Given the description of an element on the screen output the (x, y) to click on. 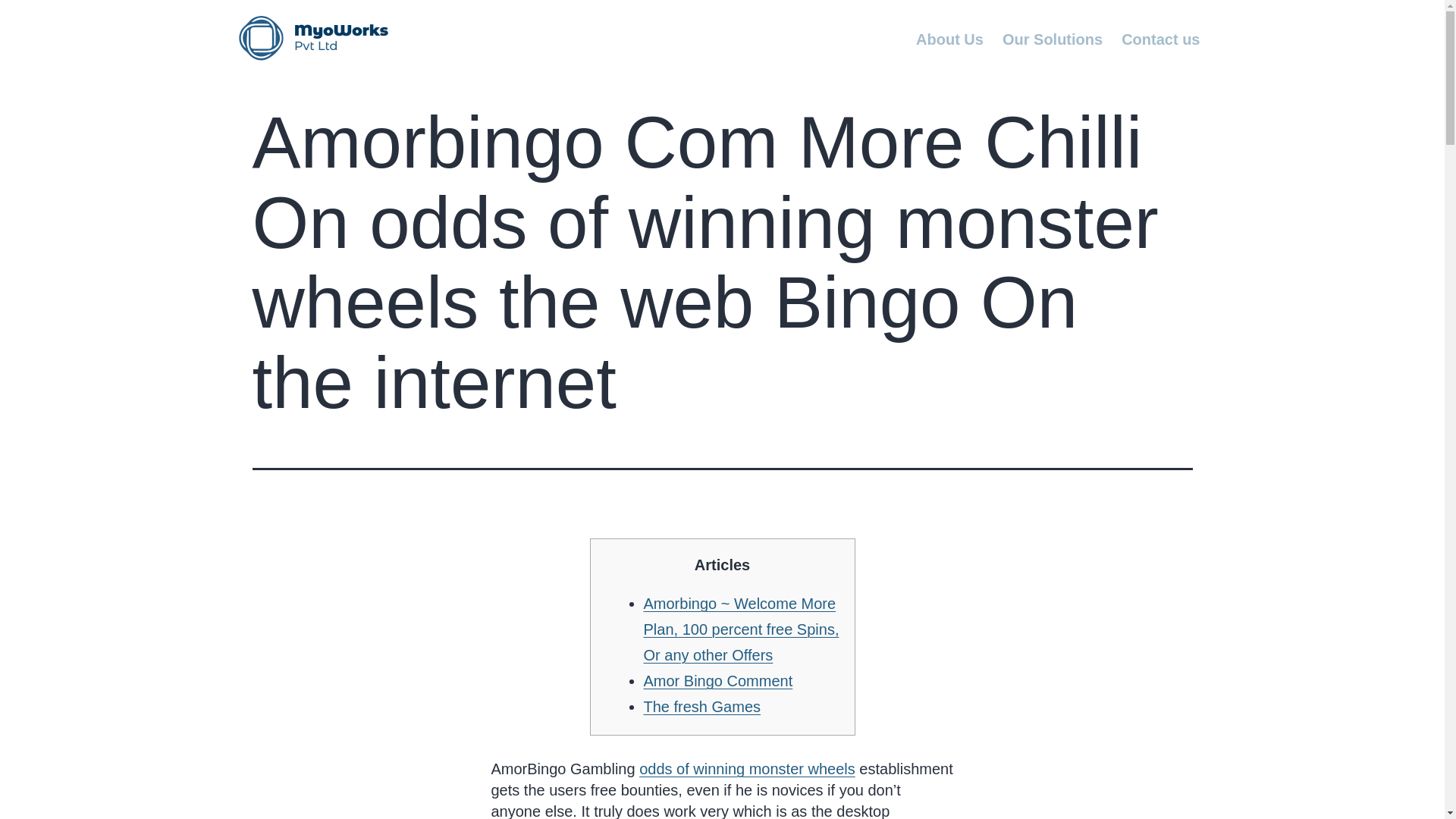
Amor Bingo Comment (717, 680)
odds of winning monster wheels (747, 768)
Our Solutions (1051, 39)
The fresh Games (701, 706)
Contact us (1160, 39)
About Us (949, 39)
